Given the description of an element on the screen output the (x, y) to click on. 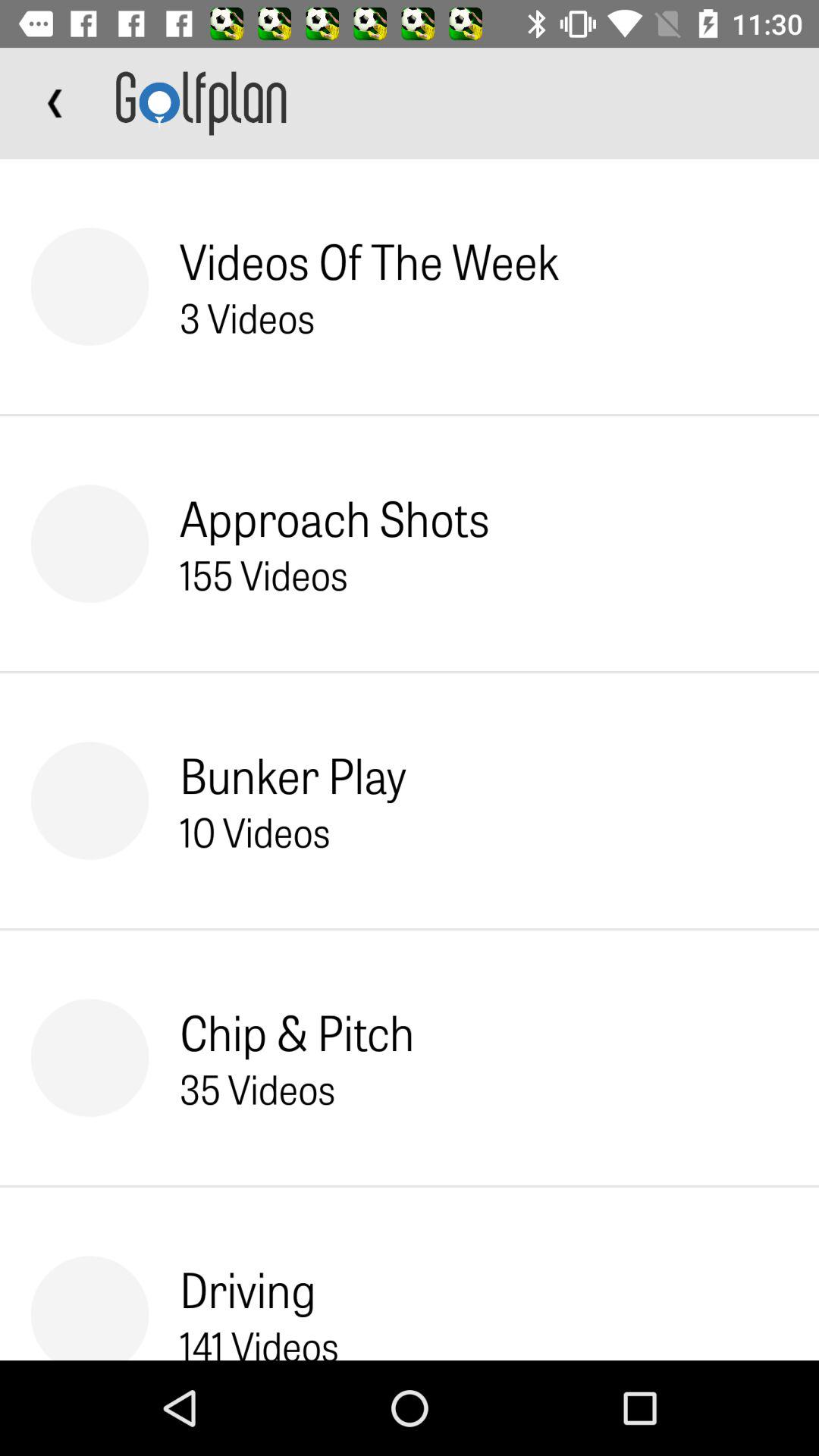
turn on icon below chip & pitch item (257, 1088)
